Given the description of an element on the screen output the (x, y) to click on. 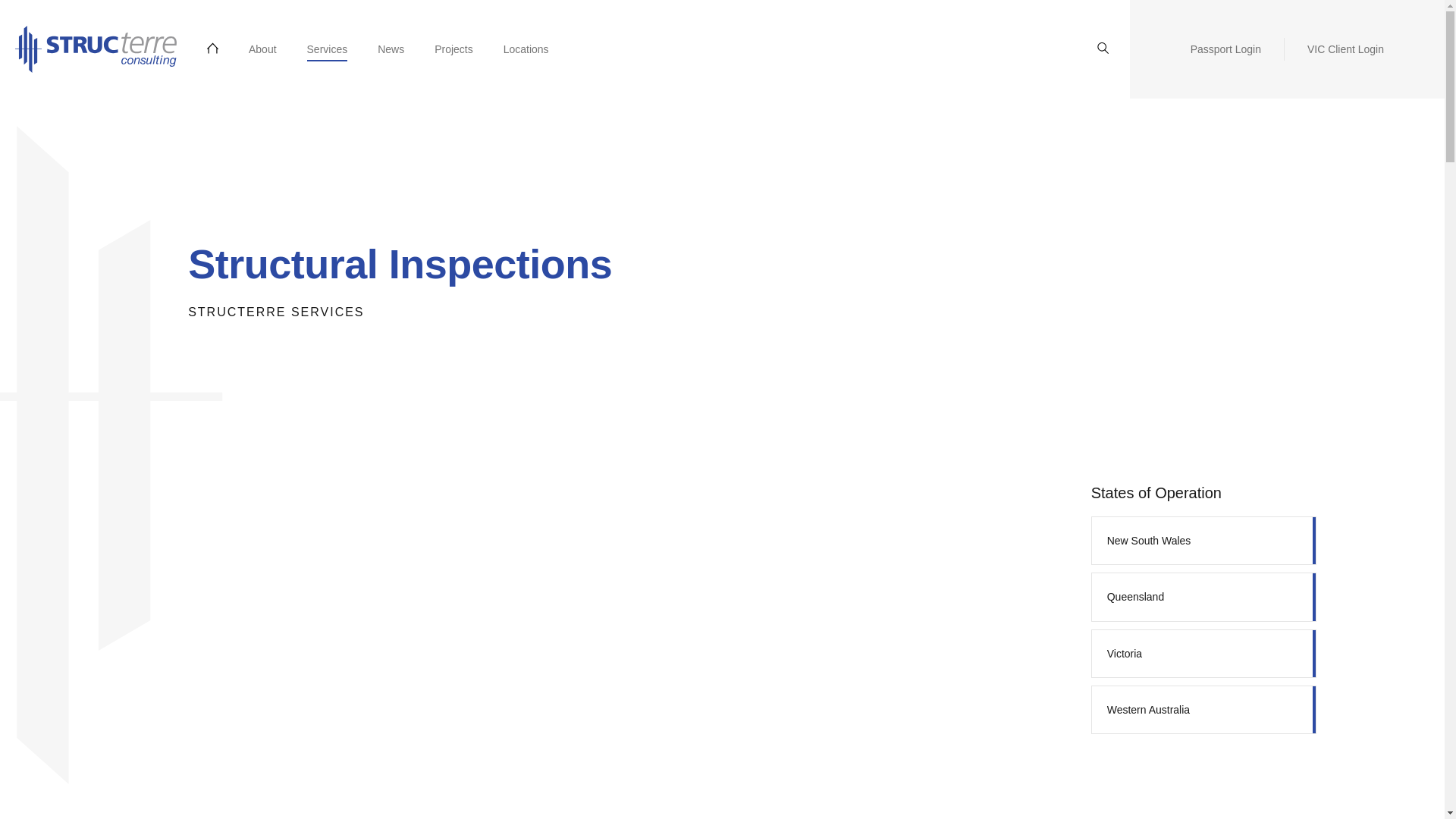
Projects (453, 48)
Queensland (1203, 596)
News (390, 48)
icon Created with Sketch. (1102, 48)
VIC Client Login (1345, 48)
New South Wales (1203, 540)
icon Created with Sketch. (1102, 48)
Victoria (1203, 653)
Passport Login (1225, 48)
Western Australia (1203, 709)
